Given the description of an element on the screen output the (x, y) to click on. 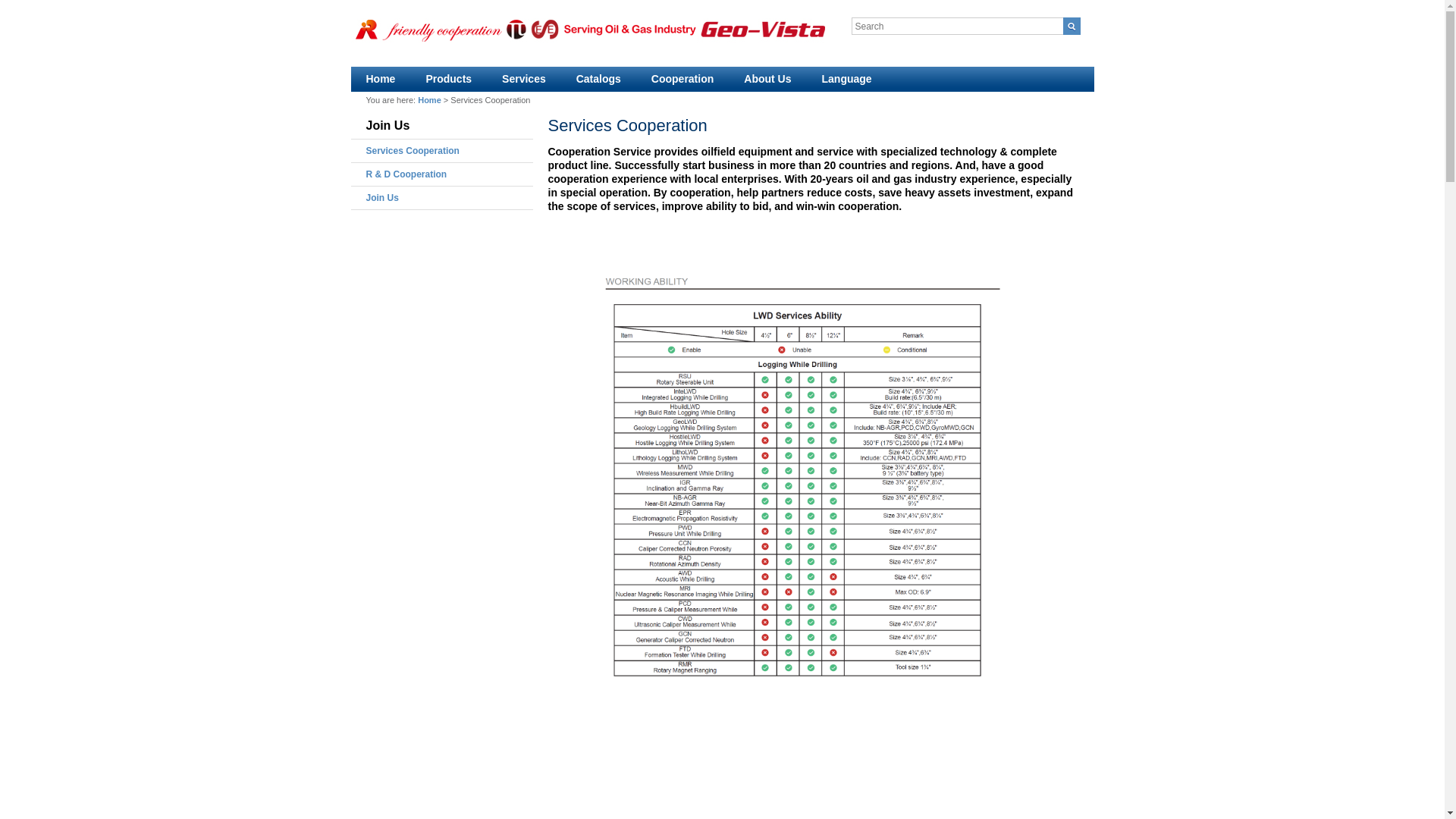
Cooperation (681, 78)
Products (448, 78)
Language (847, 78)
Home (429, 99)
Services (524, 78)
Catalogs (598, 78)
Services Cooperation (411, 150)
About Us (767, 78)
Home (379, 78)
